Given the description of an element on the screen output the (x, y) to click on. 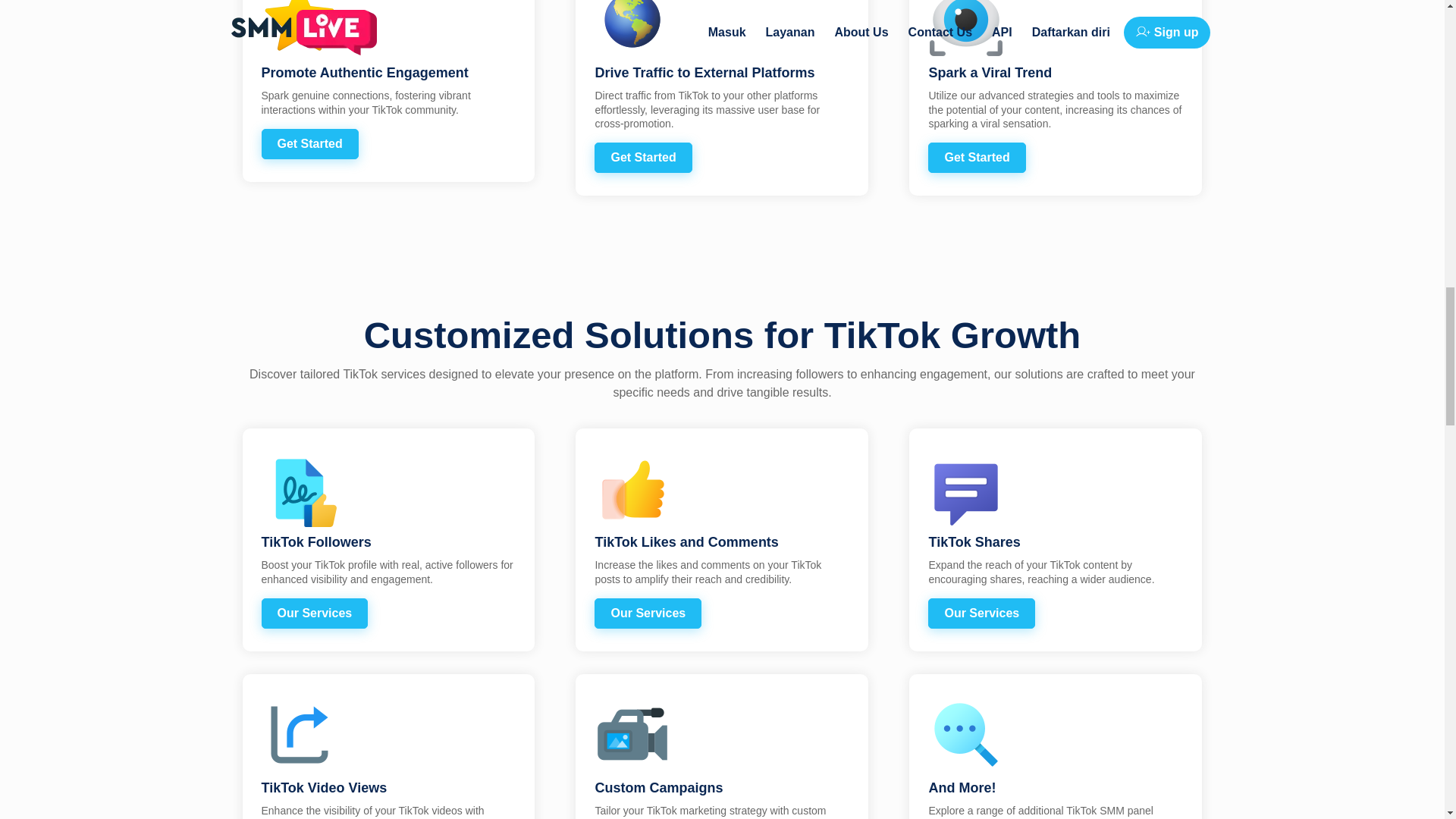
Get Started (309, 143)
Our Services (981, 613)
Our Services (314, 613)
Get Started (976, 157)
Get Started (642, 157)
Our Services (647, 613)
